Given the description of an element on the screen output the (x, y) to click on. 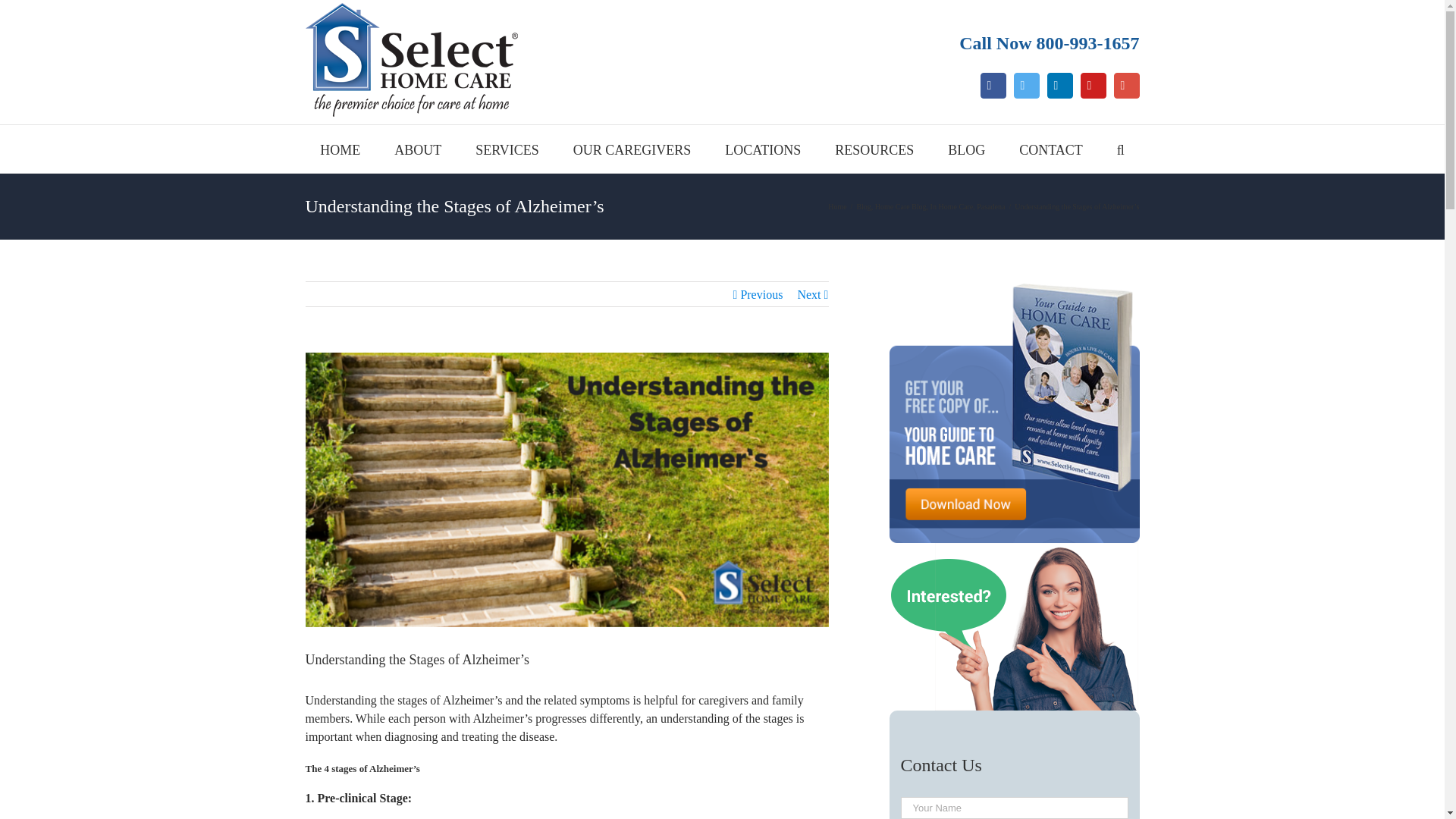
Linkedin (1058, 85)
Youtube (1092, 85)
SERVICES (507, 148)
ABOUT (417, 148)
OUR CAREGIVERS (632, 148)
Twitter (1026, 85)
Facebook (992, 85)
LOCATIONS (762, 148)
